Given the description of an element on the screen output the (x, y) to click on. 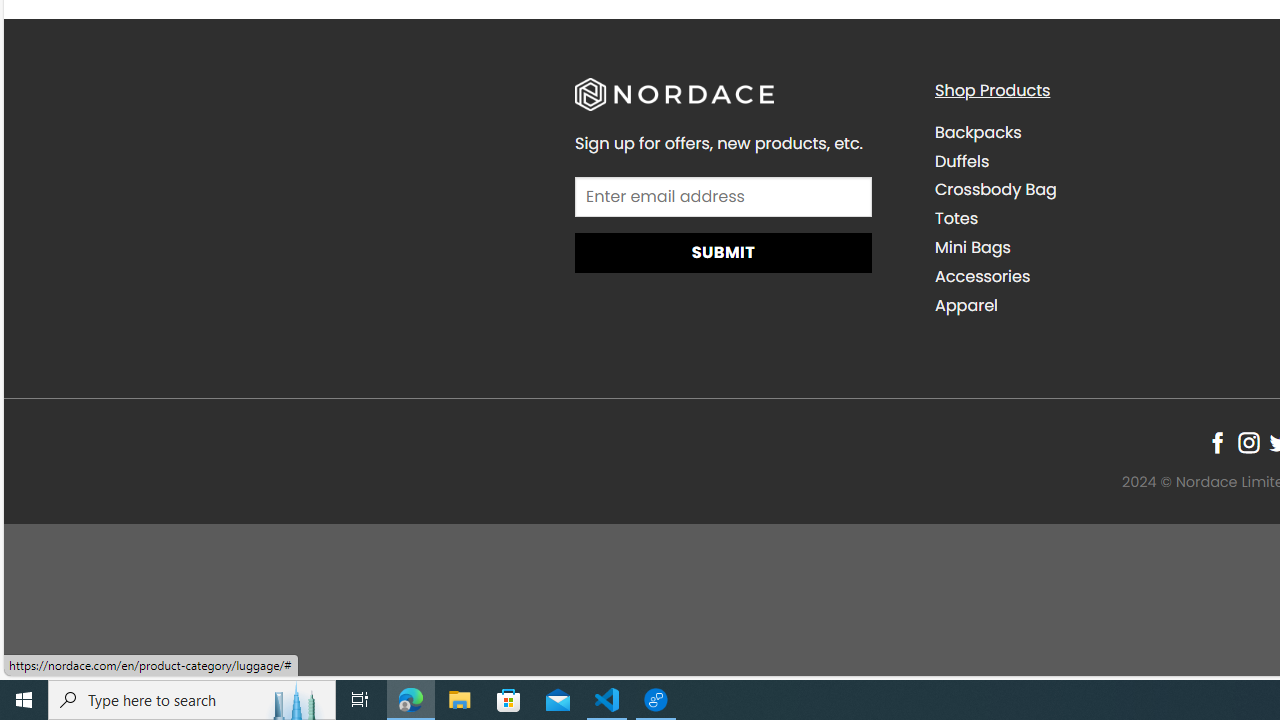
Backpacks (1099, 132)
Crossbody Bag (995, 189)
Apparel (1099, 305)
Duffels (1099, 161)
Follow on Facebook (1217, 442)
Follow on Instagram (1248, 442)
Mini Bags (972, 247)
Mini Bags (1099, 247)
AutomationID: input_4_1 (722, 196)
Duffels (961, 160)
Backpacks (977, 132)
Accessories (1099, 276)
Totes (1099, 218)
AutomationID: field_4_1 (722, 199)
Totes (955, 219)
